Given the description of an element on the screen output the (x, y) to click on. 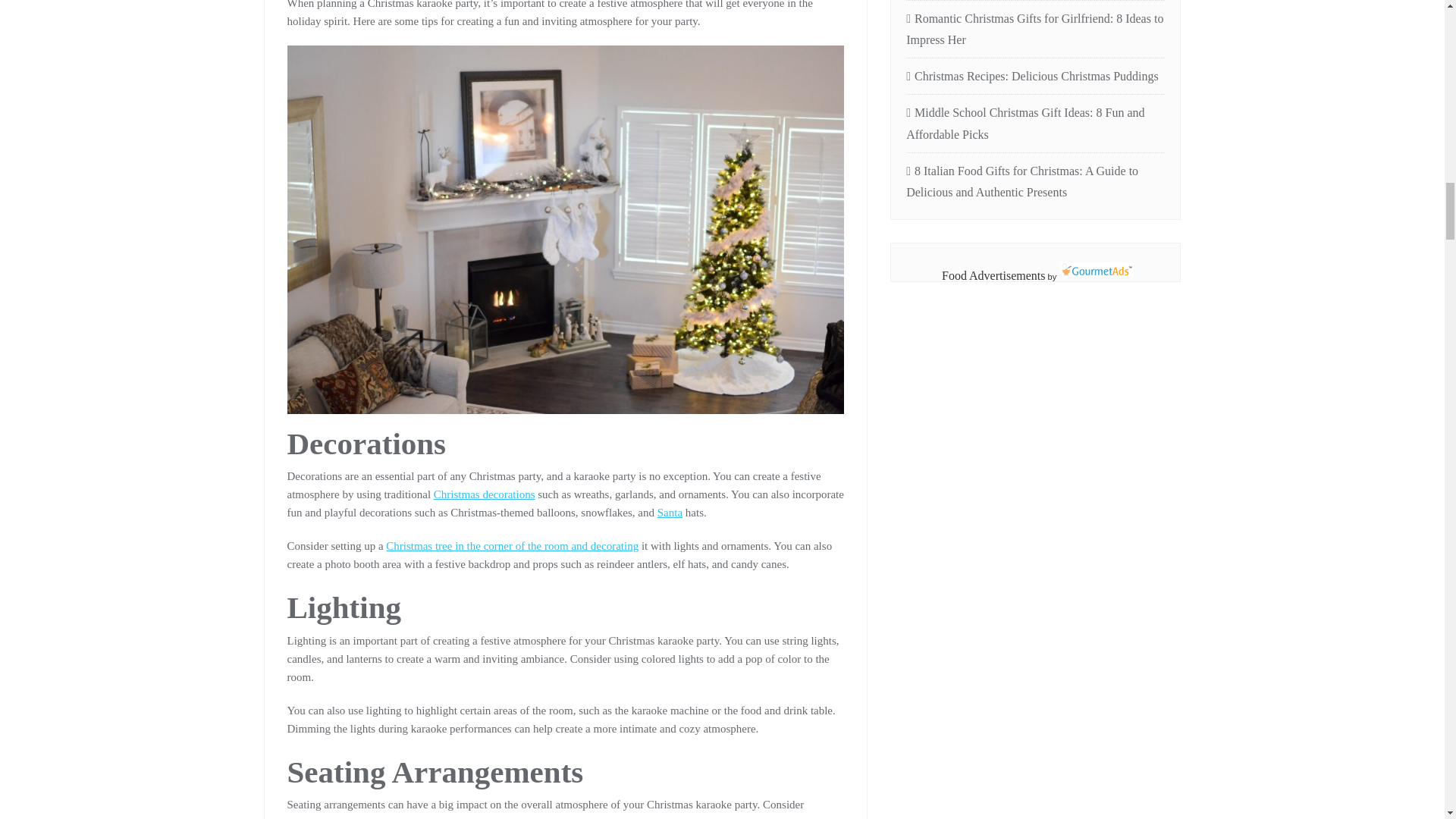
Christmas tree in the corner of the room and decorating (512, 545)
Christmas decorations (484, 494)
Santa (670, 512)
Food Advertisements (993, 275)
